Given the description of an element on the screen output the (x, y) to click on. 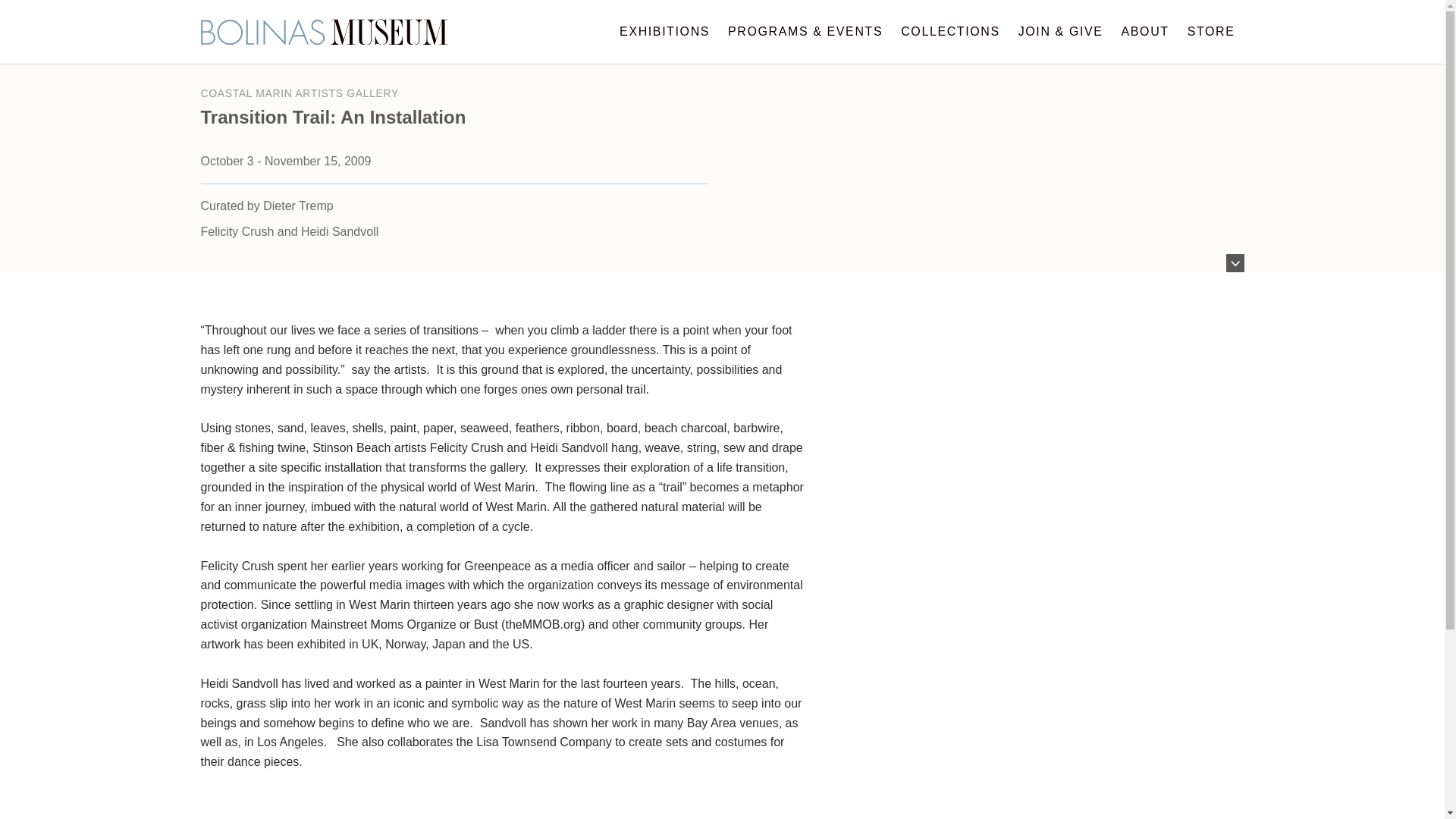
EXHIBITIONS (664, 31)
STORE (1210, 31)
ABOUT (1144, 31)
Bolinas Museum (323, 31)
COLLECTIONS (950, 31)
